Given the description of an element on the screen output the (x, y) to click on. 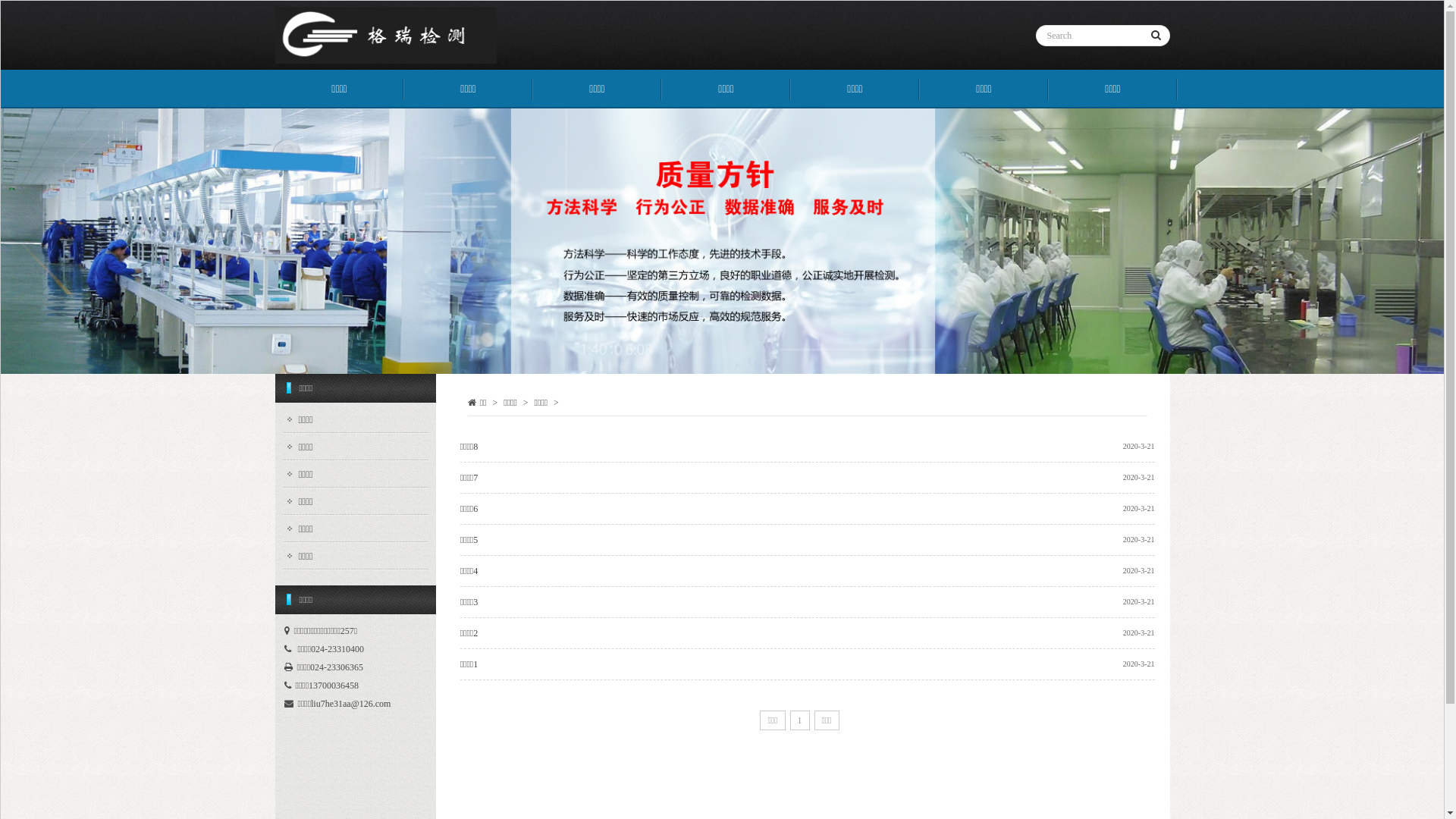
1 Element type: text (799, 720)
